Given the description of an element on the screen output the (x, y) to click on. 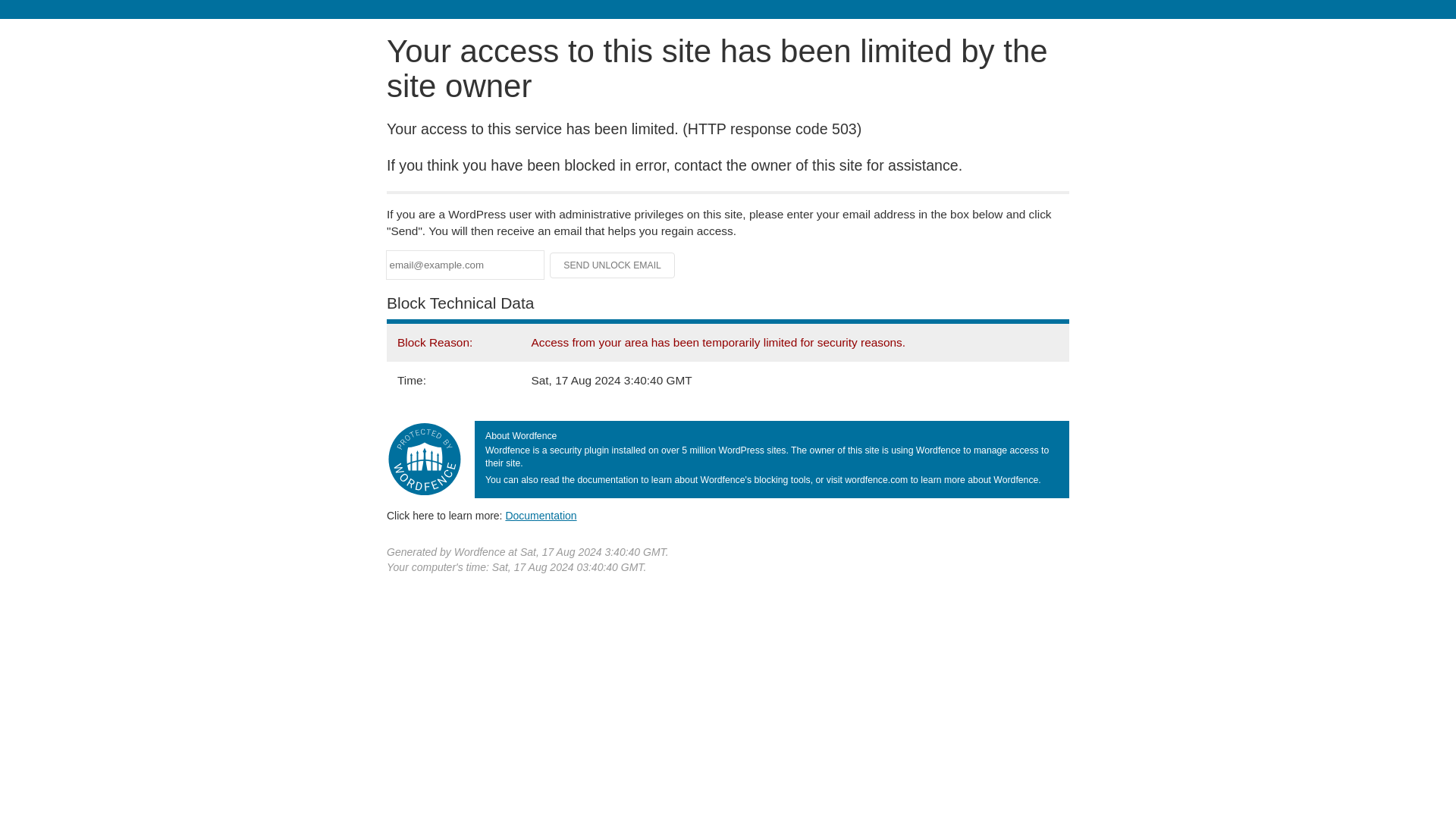
Documentation (540, 515)
Send Unlock Email (612, 265)
Send Unlock Email (612, 265)
